Given the description of an element on the screen output the (x, y) to click on. 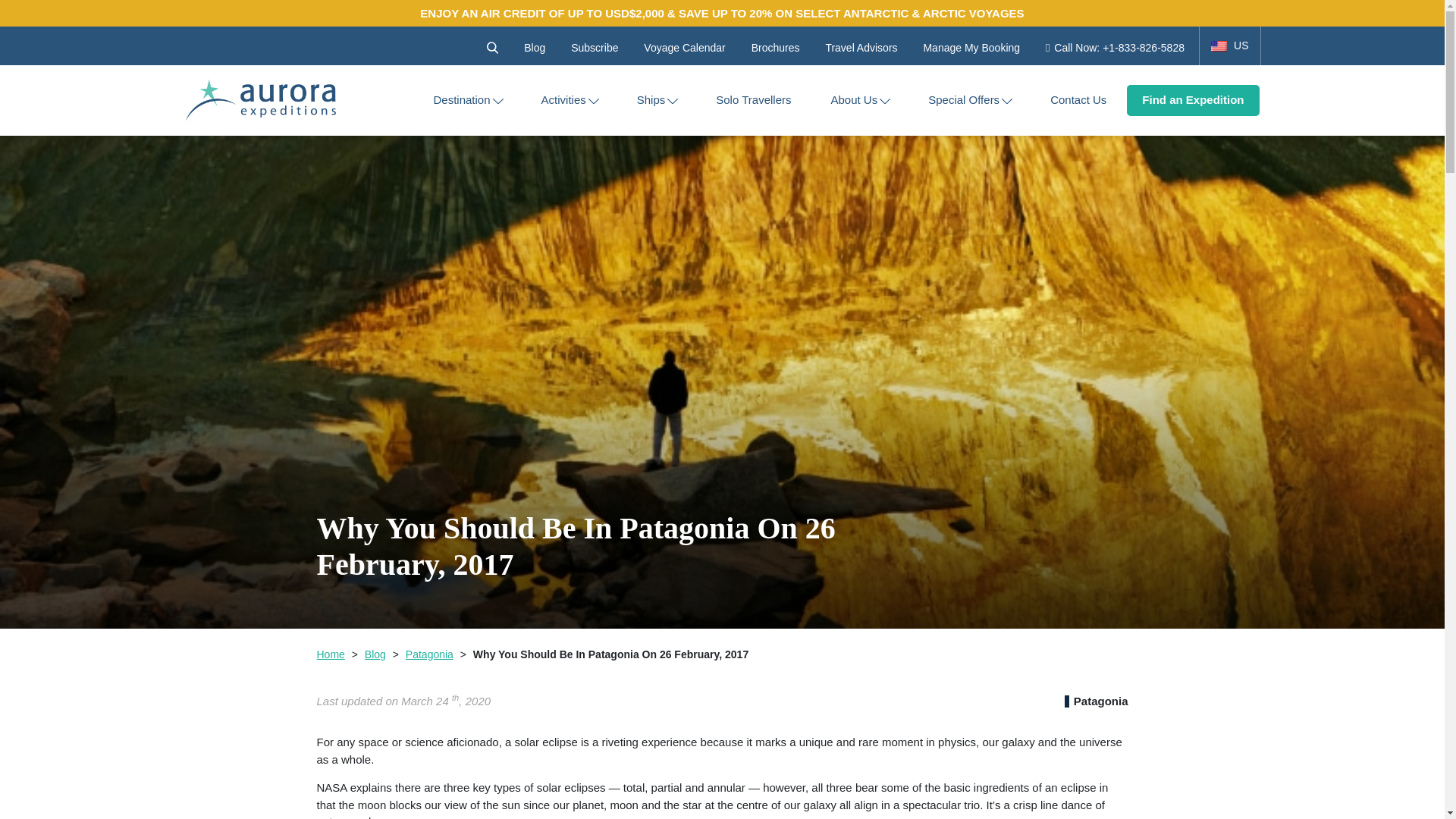
Travel Advisors (860, 46)
Manage My Booking (971, 46)
Brochures (775, 46)
US (1230, 45)
US (1230, 45)
Blog (534, 46)
Destination (460, 100)
Voyage Calendar (684, 46)
Subscribe (593, 46)
Search (491, 46)
